Given the description of an element on the screen output the (x, y) to click on. 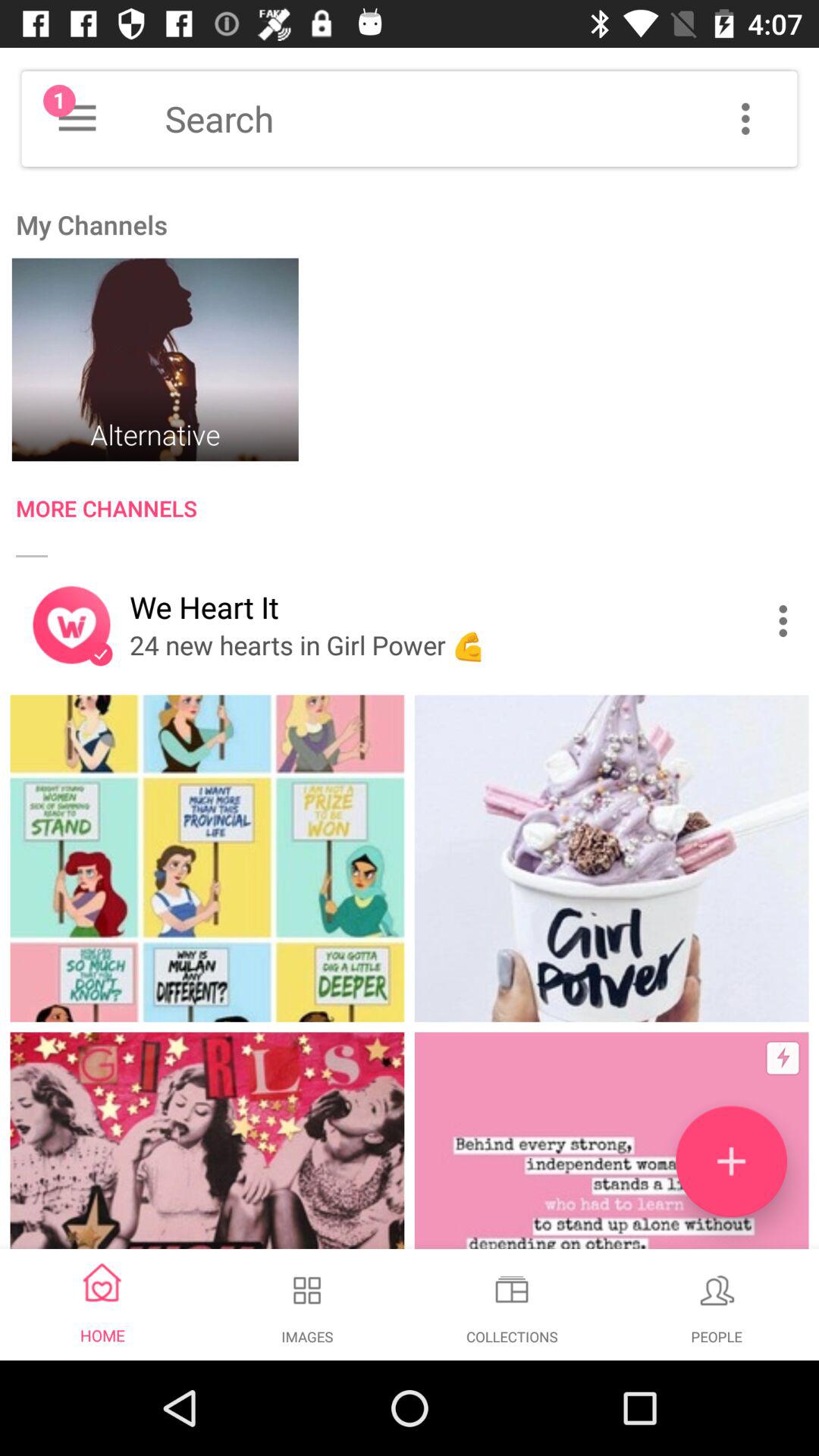
press the item below more channels item (787, 620)
